Given the description of an element on the screen output the (x, y) to click on. 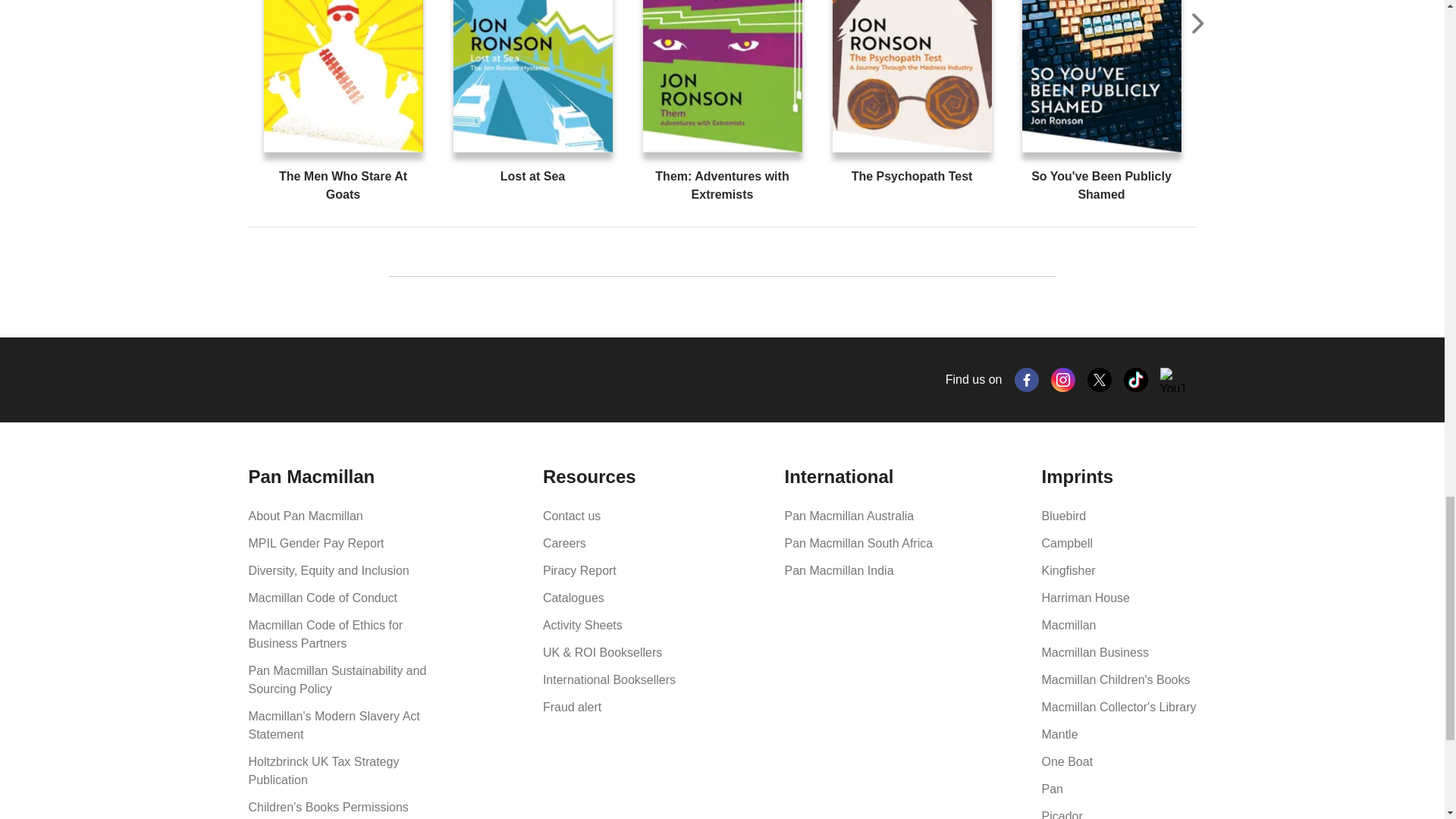
YouTube (1172, 379)
Facebook (1026, 379)
TikTok (1136, 379)
Instagram (1063, 379)
